Given the description of an element on the screen output the (x, y) to click on. 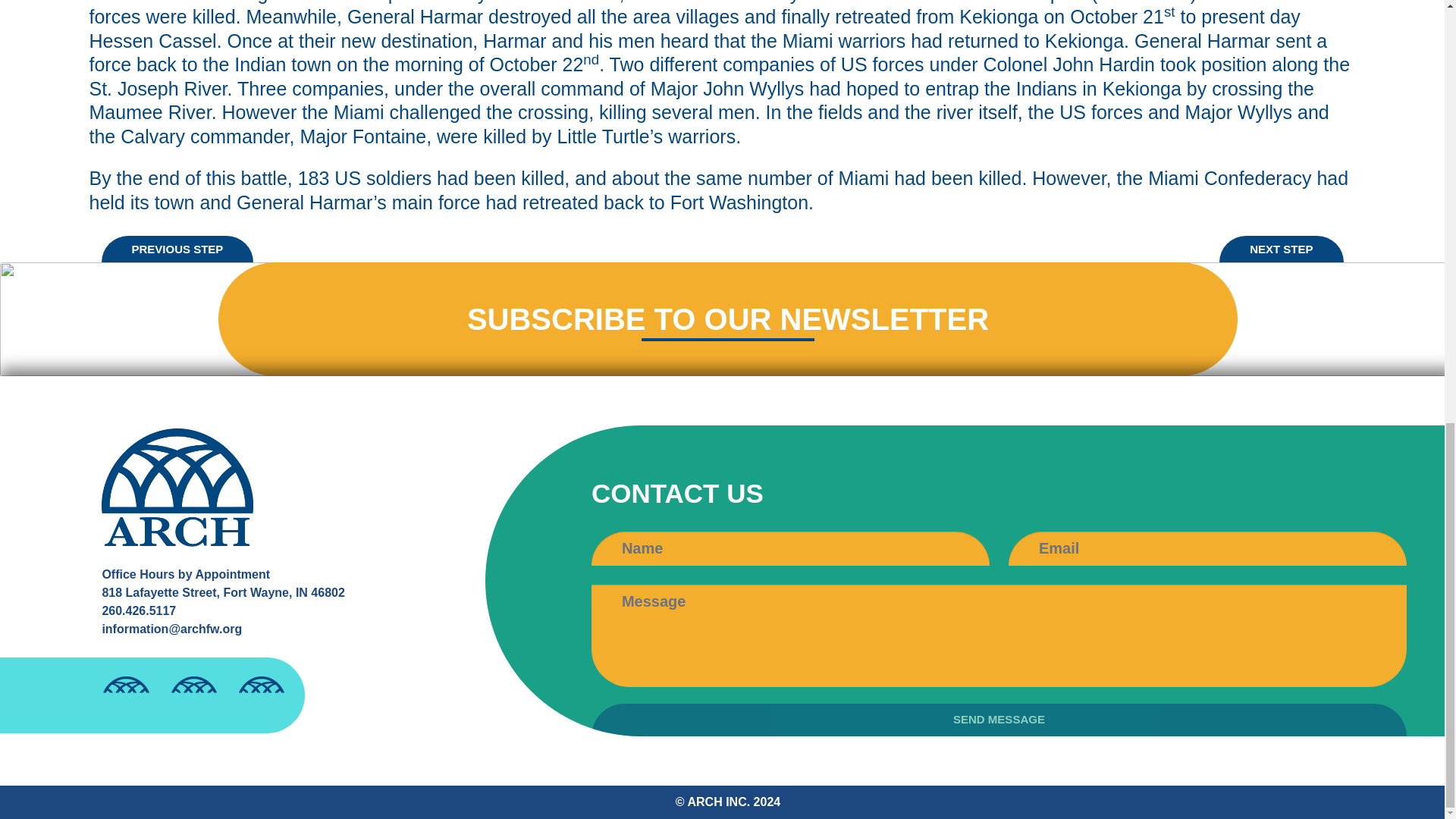
NEXT STEP (1281, 248)
Send Message (998, 719)
PREVIOUS STEP (177, 248)
